Given the description of an element on the screen output the (x, y) to click on. 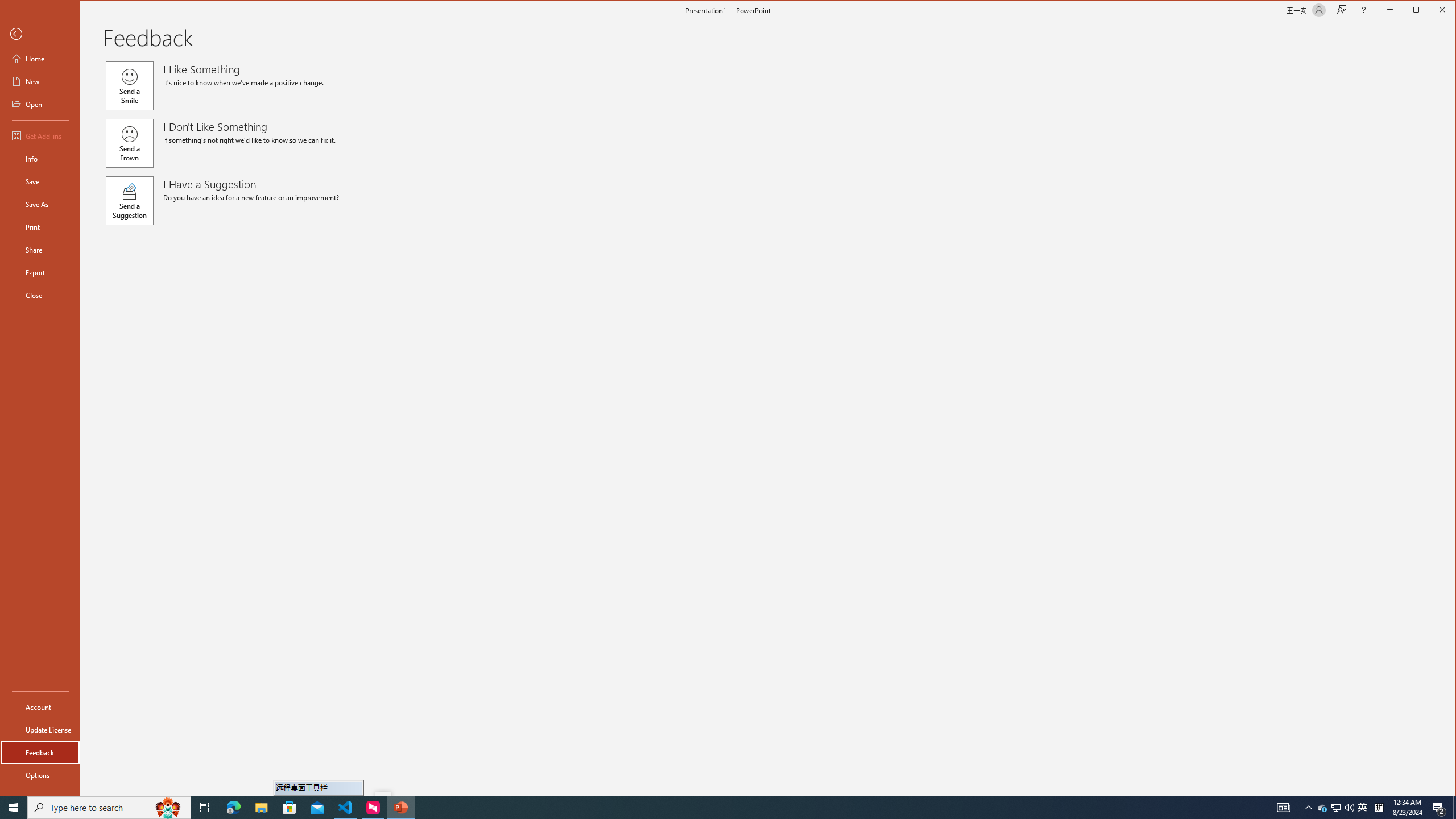
Options (40, 775)
Type here to search (108, 807)
AutomationID: 4105 (1283, 807)
Maximize (1432, 11)
Visual Studio Code - 1 running window (345, 807)
Info (1362, 807)
Send a Suggestion (40, 158)
